Given the description of an element on the screen output the (x, y) to click on. 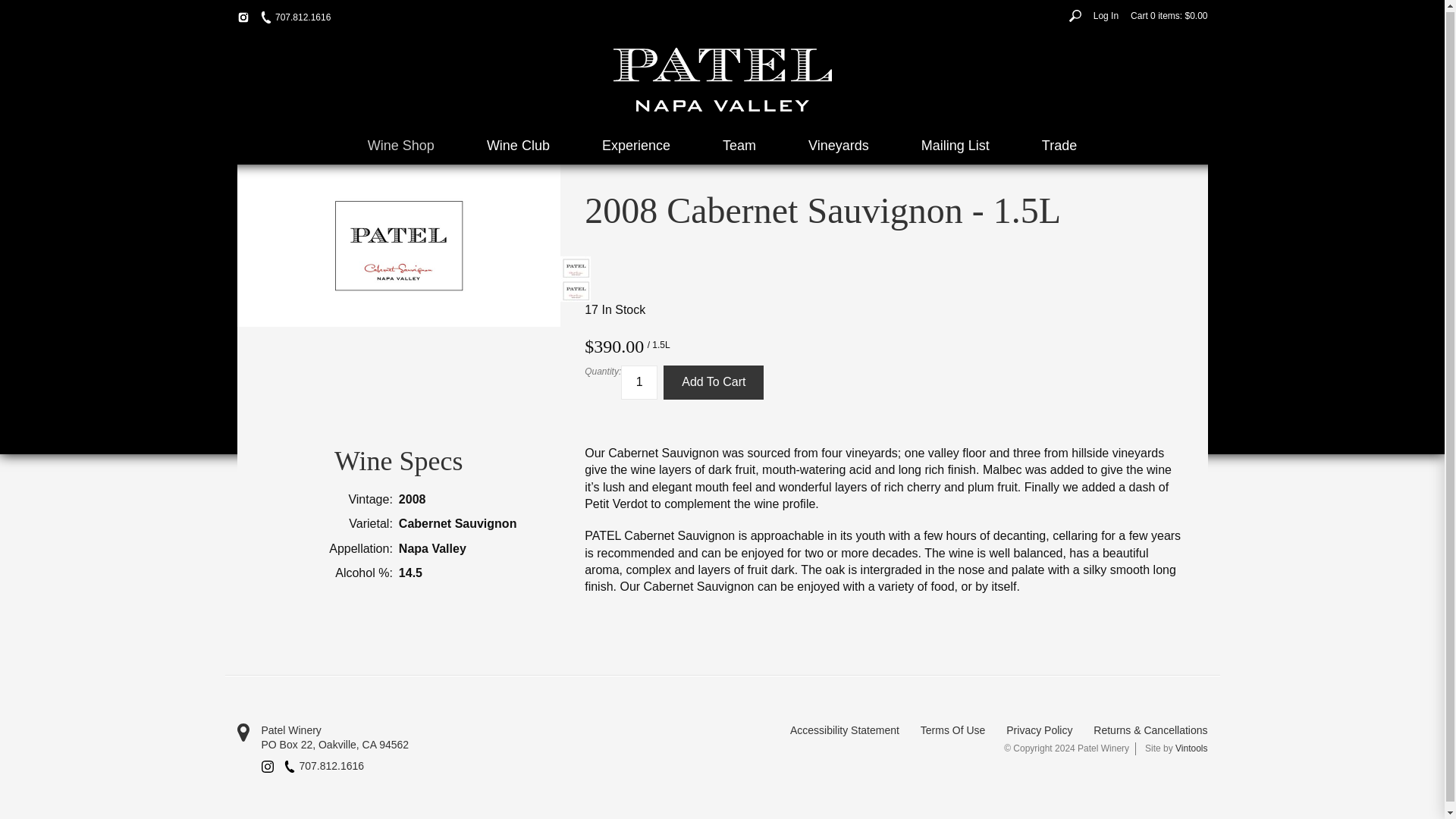
707.812.1616 (295, 17)
Team (739, 145)
Wine Shop (400, 145)
Privacy Policy (1039, 730)
707.812.1616 (323, 766)
Vineyards (838, 145)
Log In (1105, 15)
Experience (635, 145)
Add To Cart (712, 382)
Accessibility Statement (844, 730)
Terms Of Use (952, 730)
Wine Club (517, 145)
1 (639, 382)
Mailing List (954, 145)
PO Box 22, Oakville, CA 94562 (478, 744)
